Given the description of an element on the screen output the (x, y) to click on. 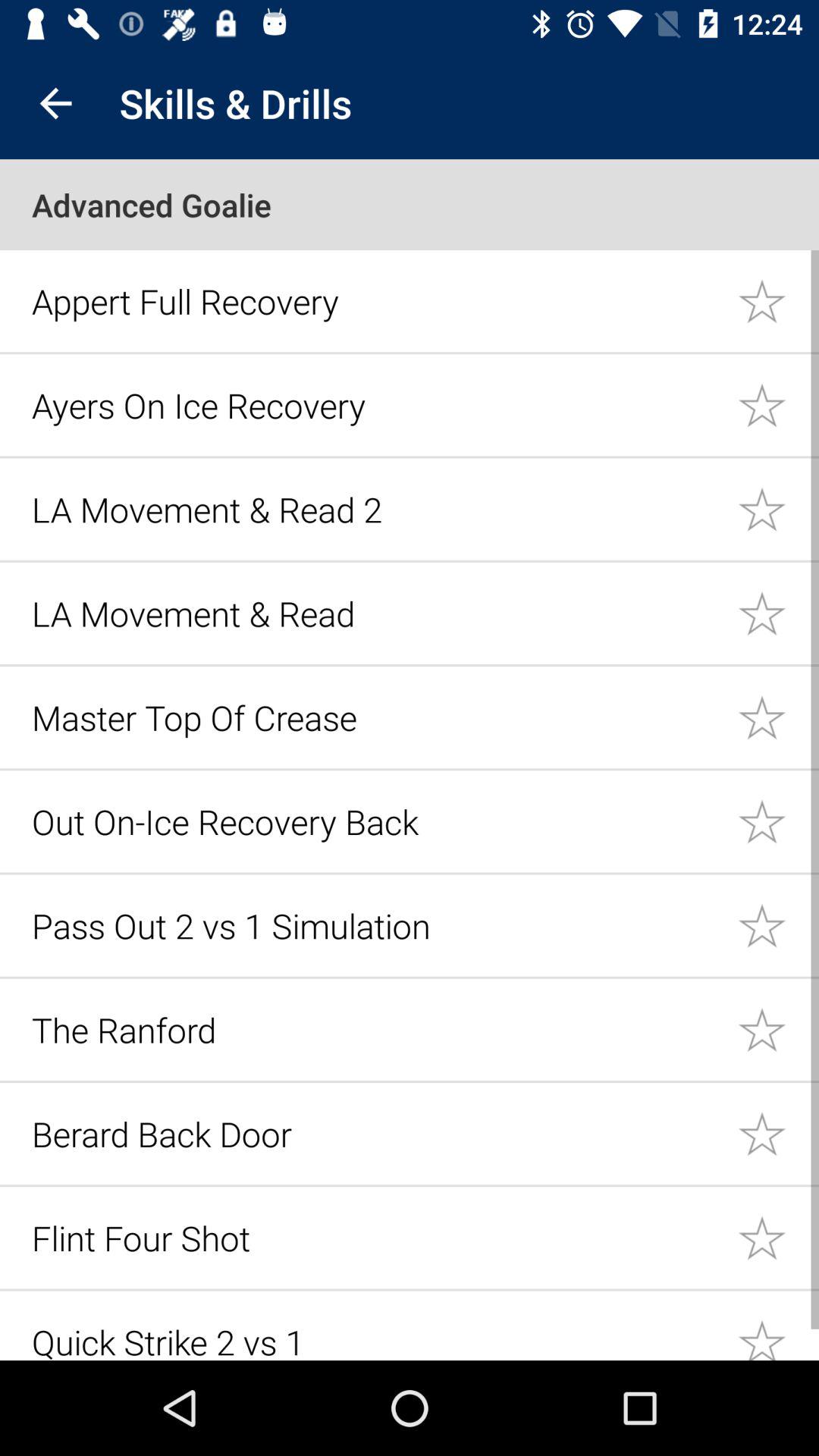
select the third star (778, 508)
click on the first star from top (778, 300)
symbol which is right to simulation (778, 925)
